Given the description of an element on the screen output the (x, y) to click on. 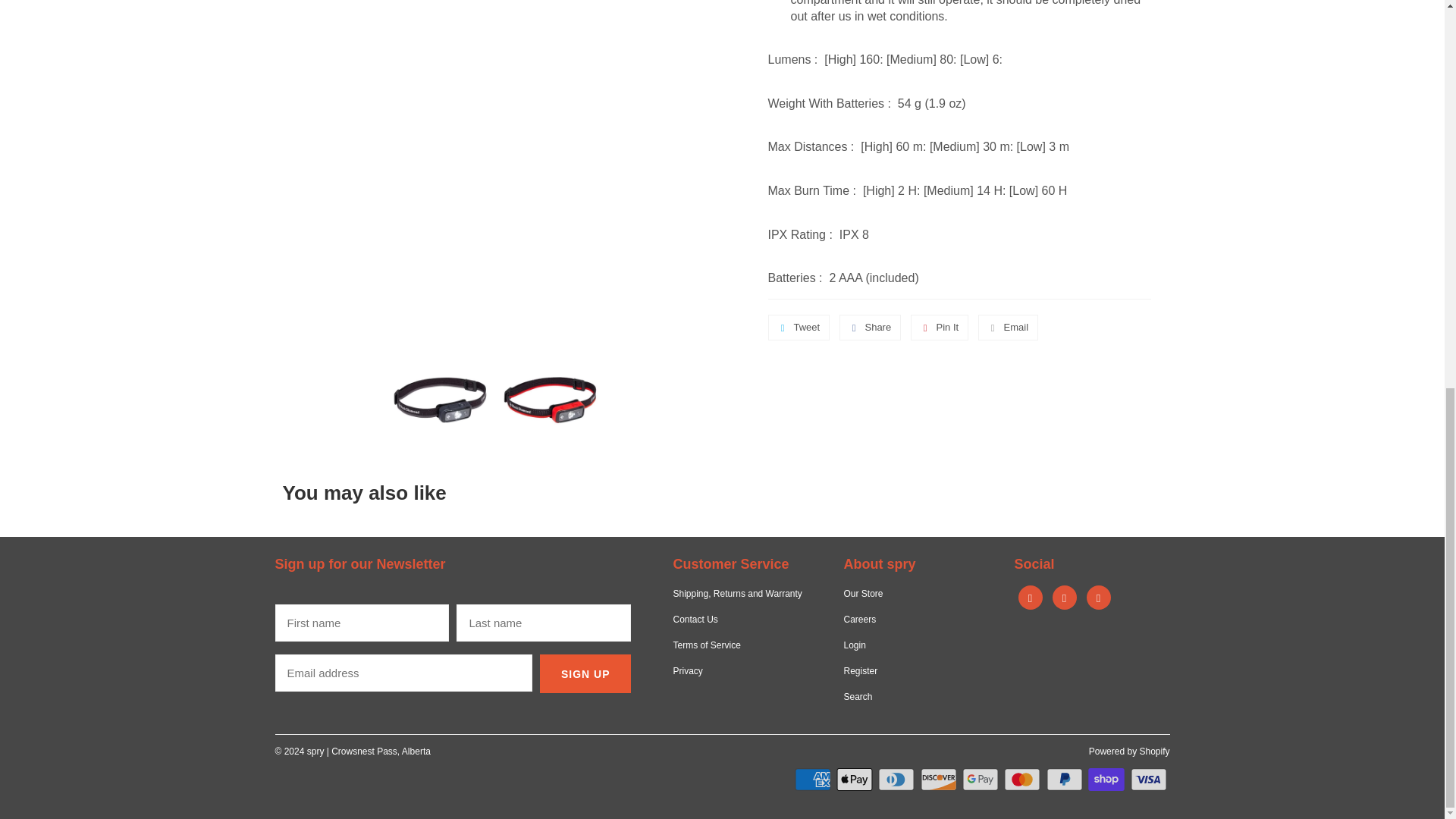
Sign Up (585, 673)
spry on Instagram (1064, 597)
Diners Club (897, 779)
Share this on Twitter (798, 327)
American Express (814, 779)
Mastercard (1023, 779)
Google Pay (981, 779)
Share this on Facebook (870, 327)
Share this on Pinterest (940, 327)
PayPal (1066, 779)
